Given the description of an element on the screen output the (x, y) to click on. 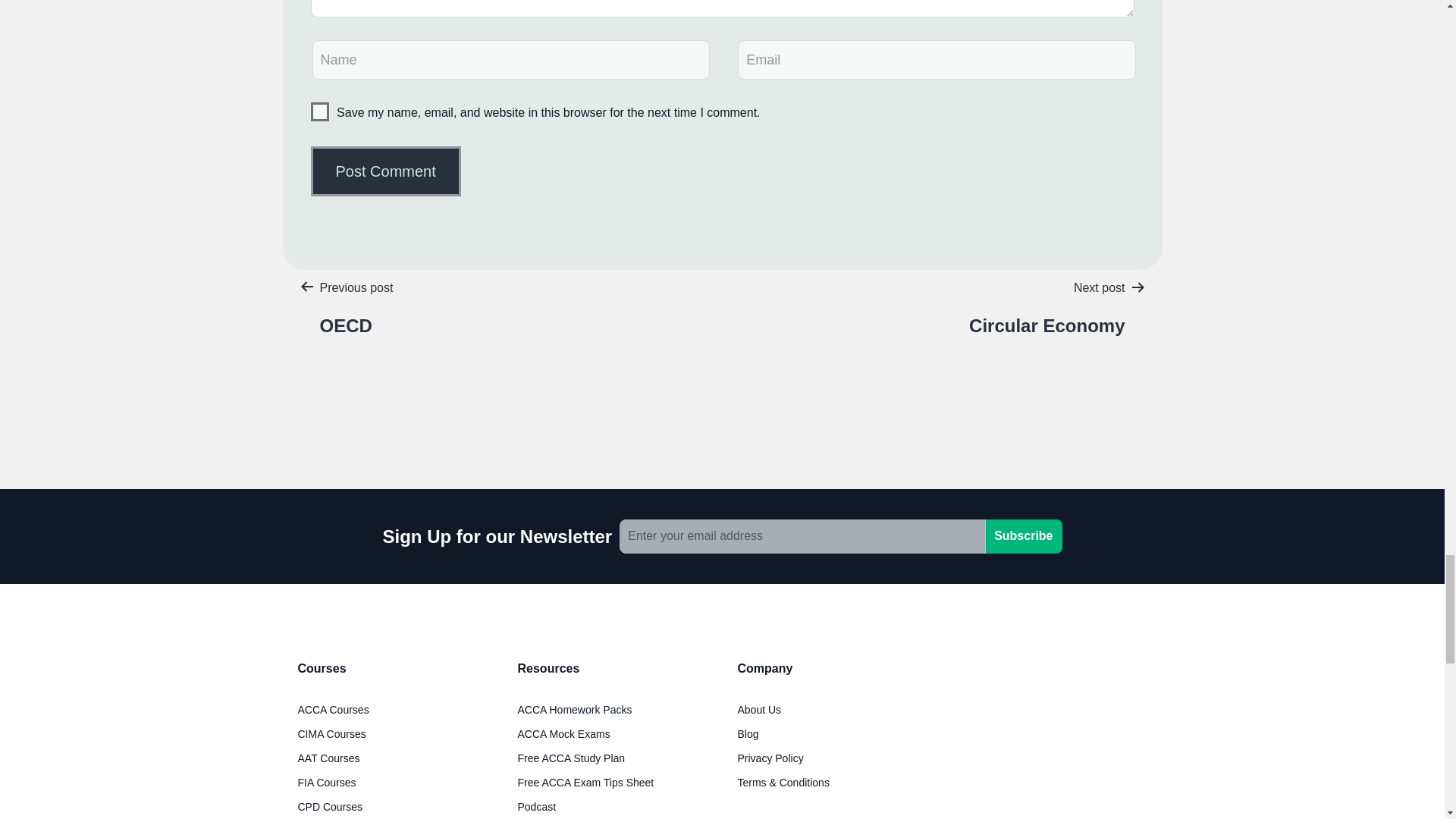
yes (320, 111)
Post Comment (386, 171)
